Given the description of an element on the screen output the (x, y) to click on. 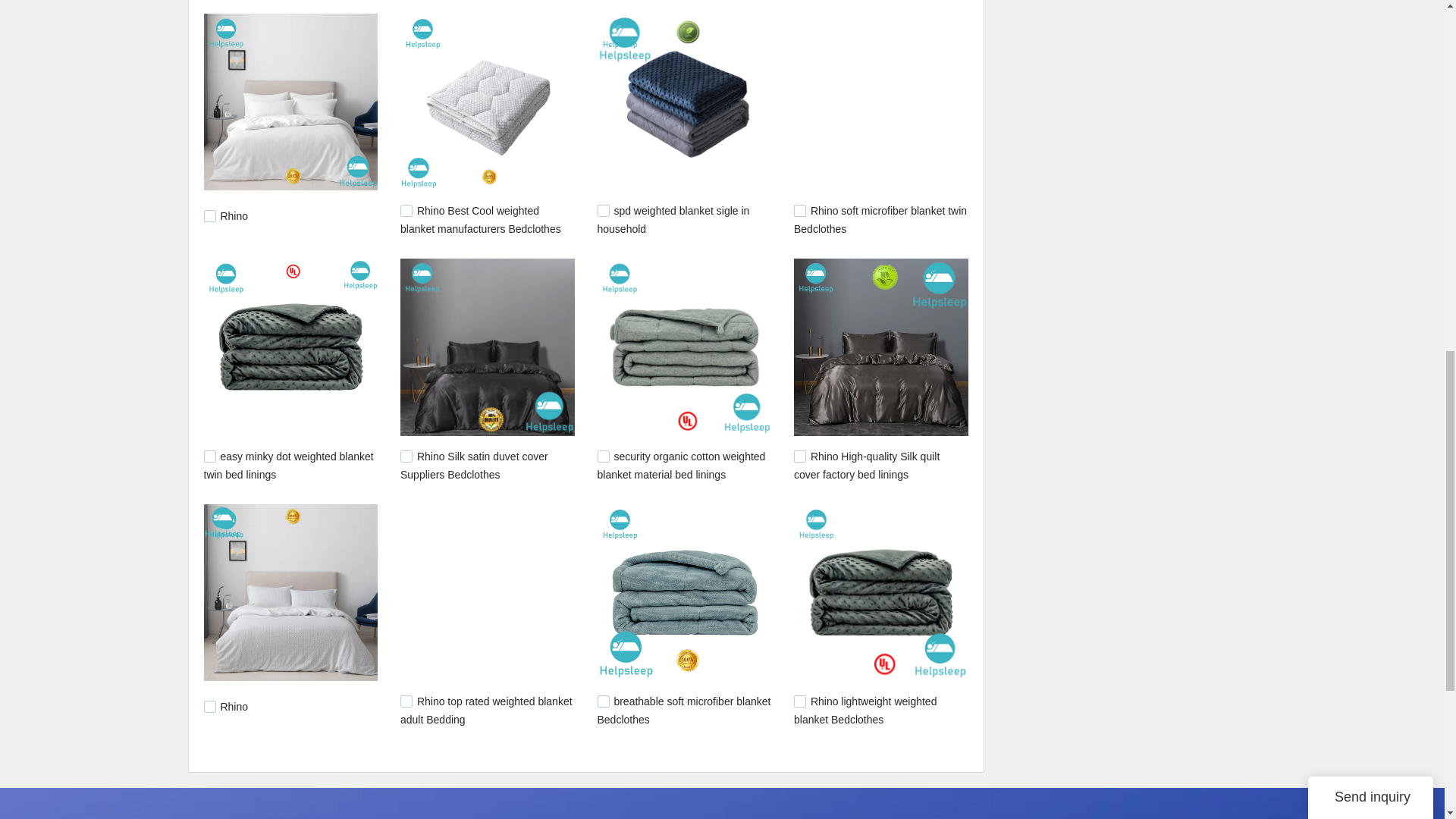
527 (603, 701)
1150 (603, 456)
981 (209, 706)
Rhino lightweight weighted blanket Bedclothes (864, 710)
629 (406, 701)
1187 (406, 210)
1176 (209, 456)
Rhino (233, 706)
Rhino Silk satin duvet cover Suppliers Bedclothes (474, 465)
1179 (799, 210)
